Given the description of an element on the screen output the (x, y) to click on. 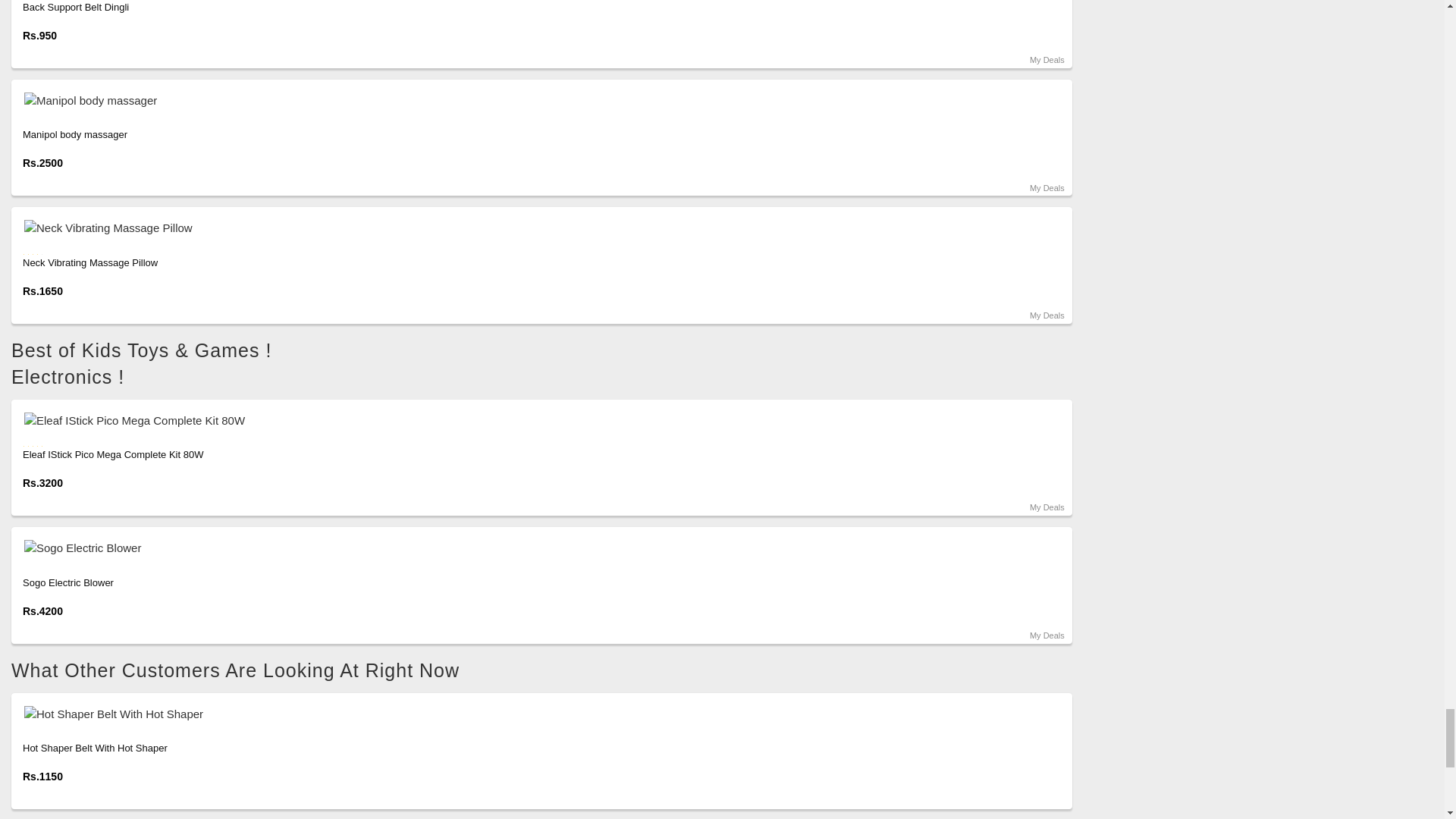
 Manipol body massager (541, 100)
Sogo Electric Blower (541, 547)
Eleaf IStick Pico Mega Complete Kit 80W (541, 420)
Neck Vibrating Massage Pillow (541, 227)
Hot Shaper Belt With Hot Shaper (541, 713)
